Given the description of an element on the screen output the (x, y) to click on. 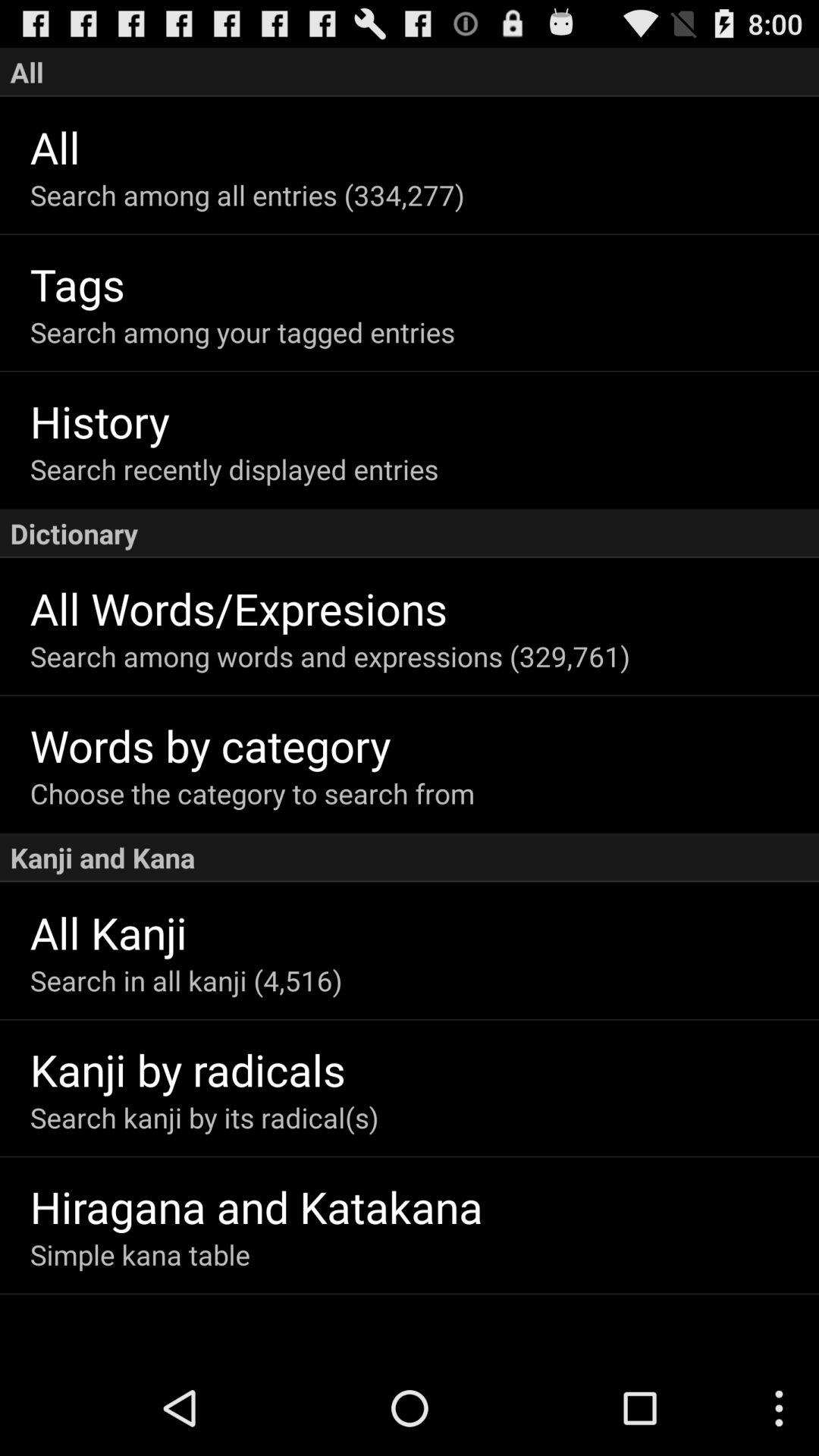
choose the icon below dictionary icon (424, 607)
